Given the description of an element on the screen output the (x, y) to click on. 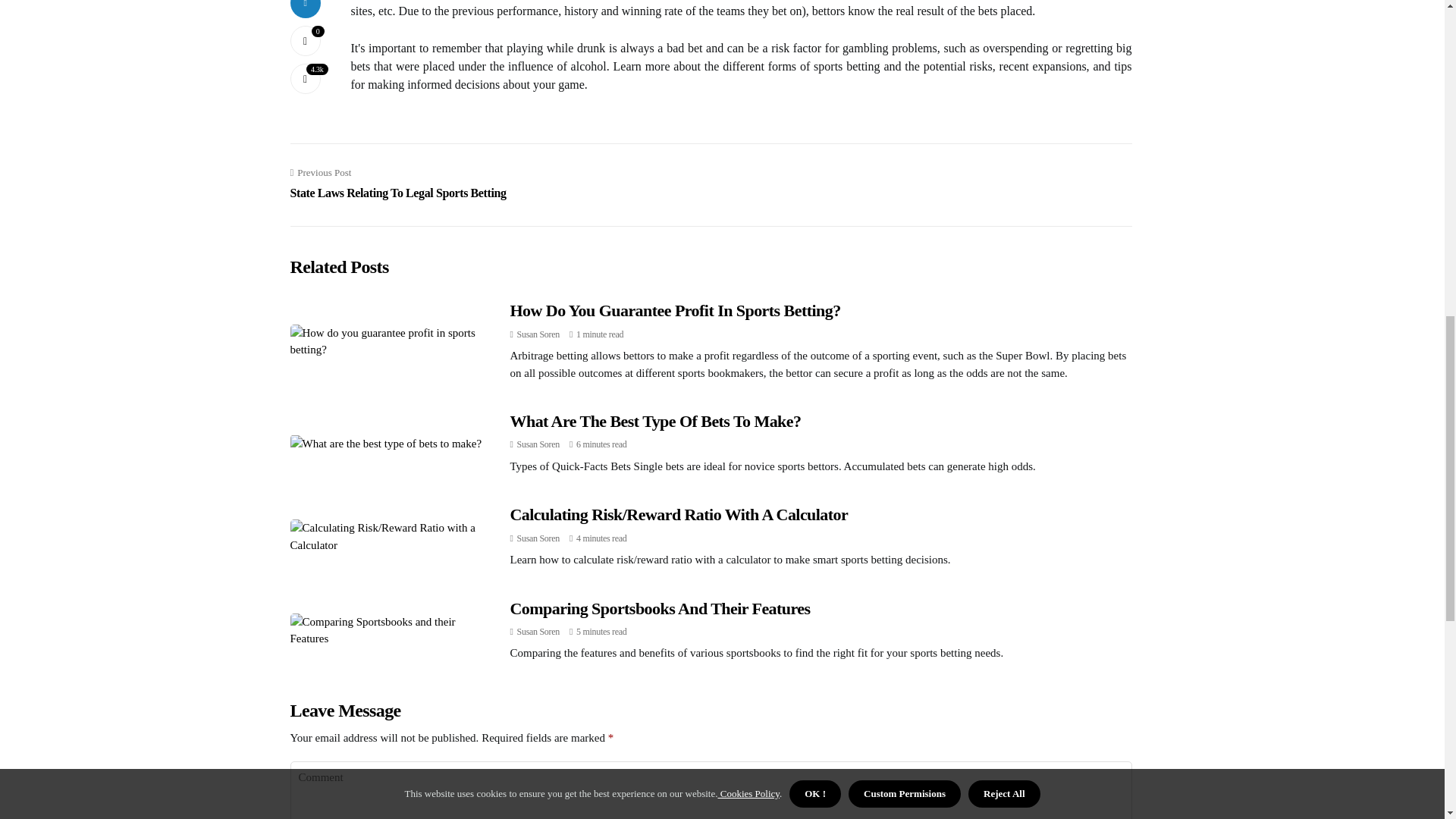
Posts by Susan Soren (537, 631)
Posts by Susan Soren (537, 538)
Posts by Susan Soren (537, 334)
Posts by Susan Soren (537, 443)
